Given the description of an element on the screen output the (x, y) to click on. 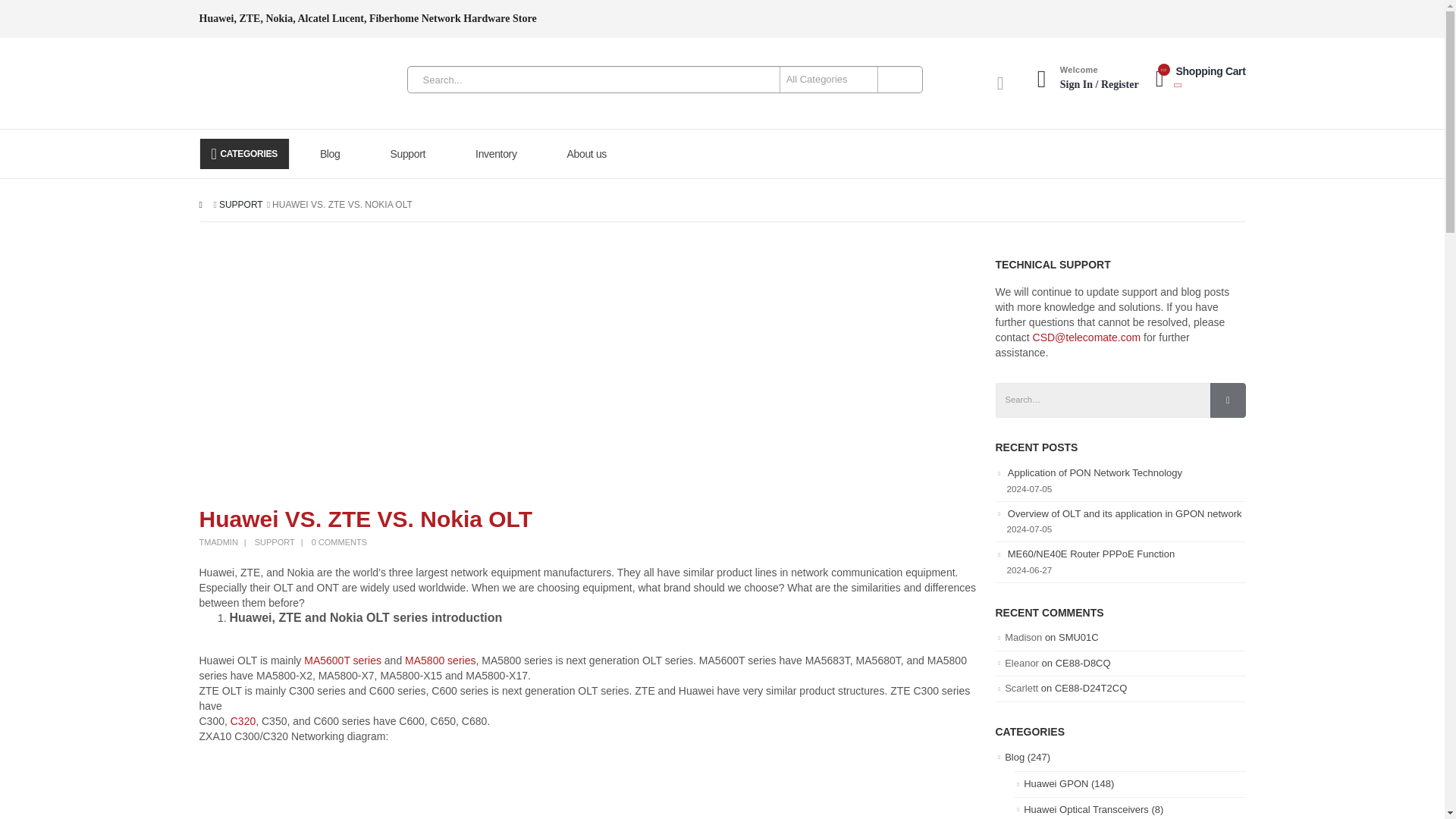
Posts by TMAdmin (217, 542)
0 COMMENTS (338, 542)
Huawei VS. ZTE VS. Nokia OLT 5 (425, 781)
My Account (1000, 83)
